Given the description of an element on the screen output the (x, y) to click on. 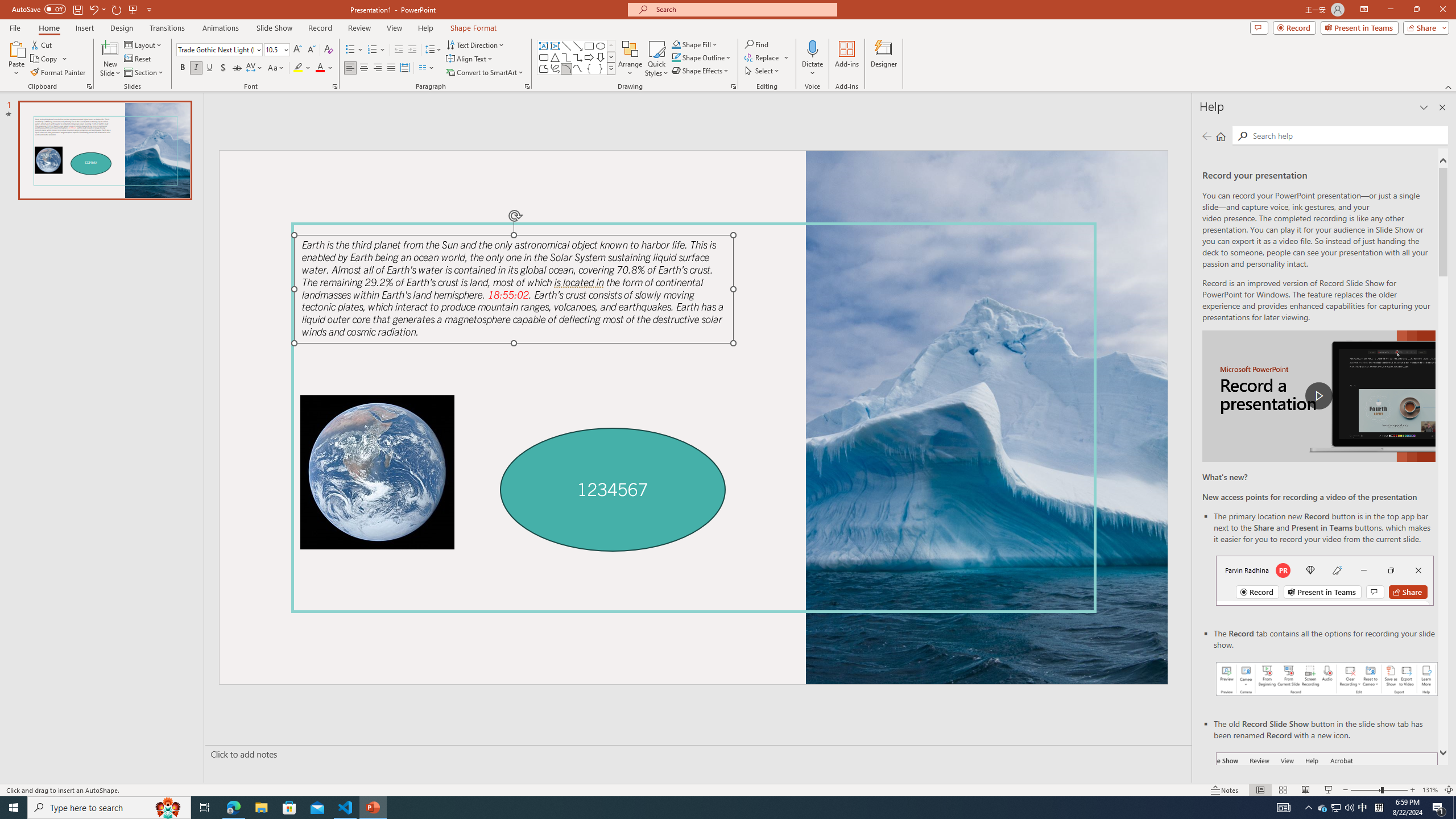
Zoom 131% (1430, 790)
